Given the description of an element on the screen output the (x, y) to click on. 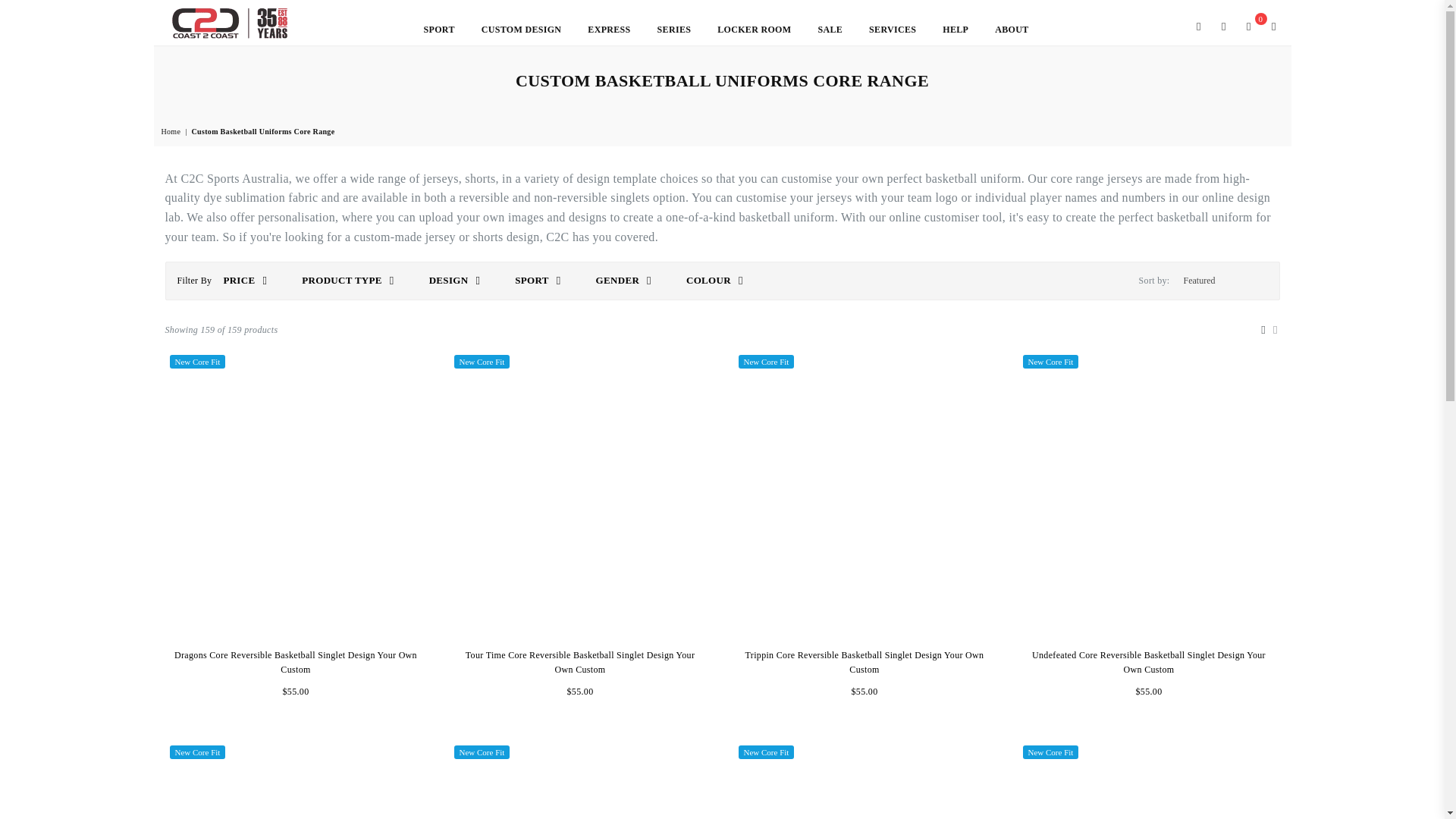
Grid View (1262, 328)
Back to the home page (171, 131)
SEARCH (1198, 26)
SPORT (438, 30)
List View (1275, 328)
COAST 2 COAST SPORTS (229, 22)
Settings (1270, 26)
Logout (1223, 26)
MY CART (1248, 26)
